Given the description of an element on the screen output the (x, y) to click on. 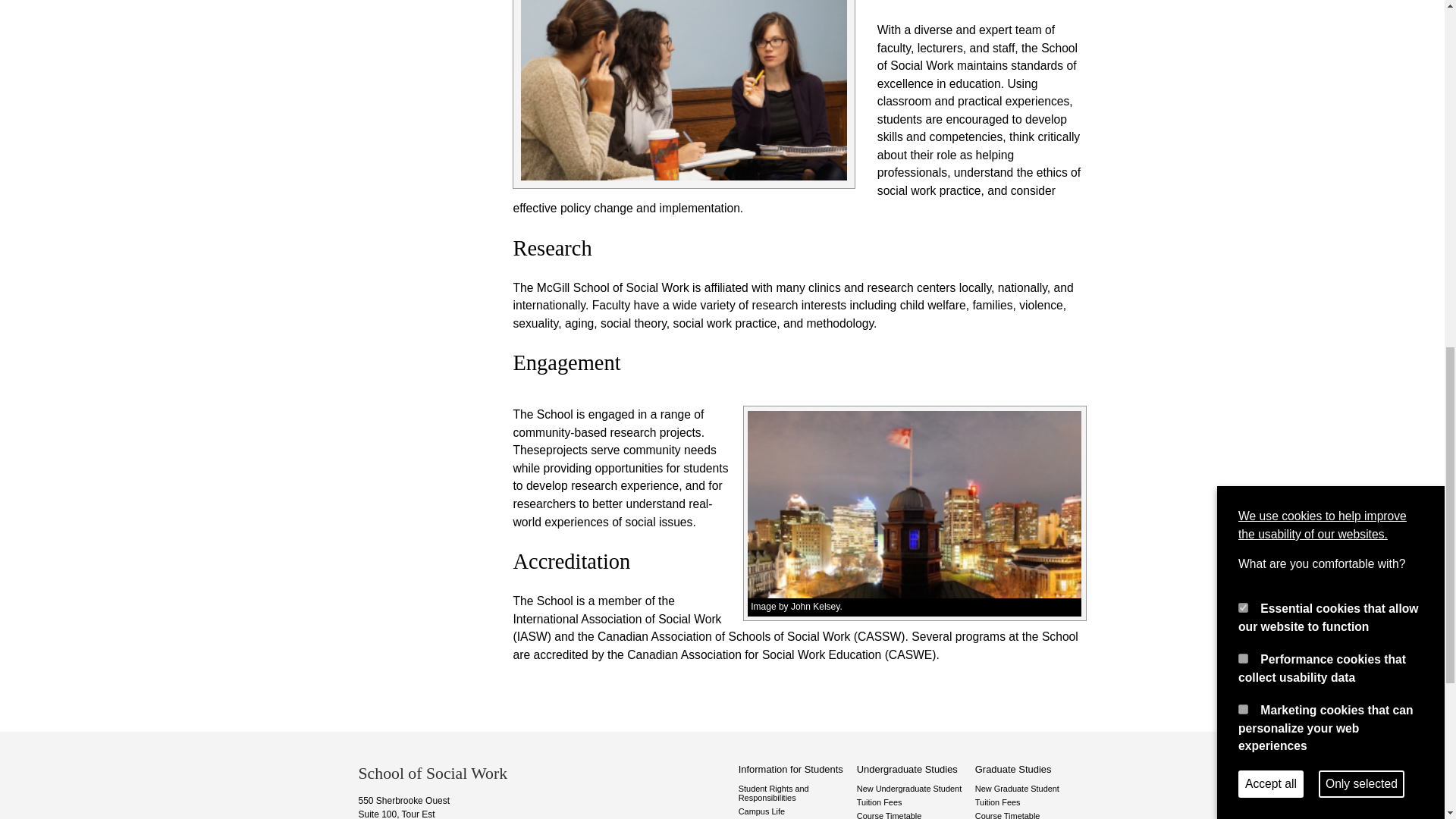
Campus Life (794, 810)
Student Rights and Responsibilities (794, 792)
Information for Students (794, 769)
Image by John Kelsey. (914, 607)
